Given the description of an element on the screen output the (x, y) to click on. 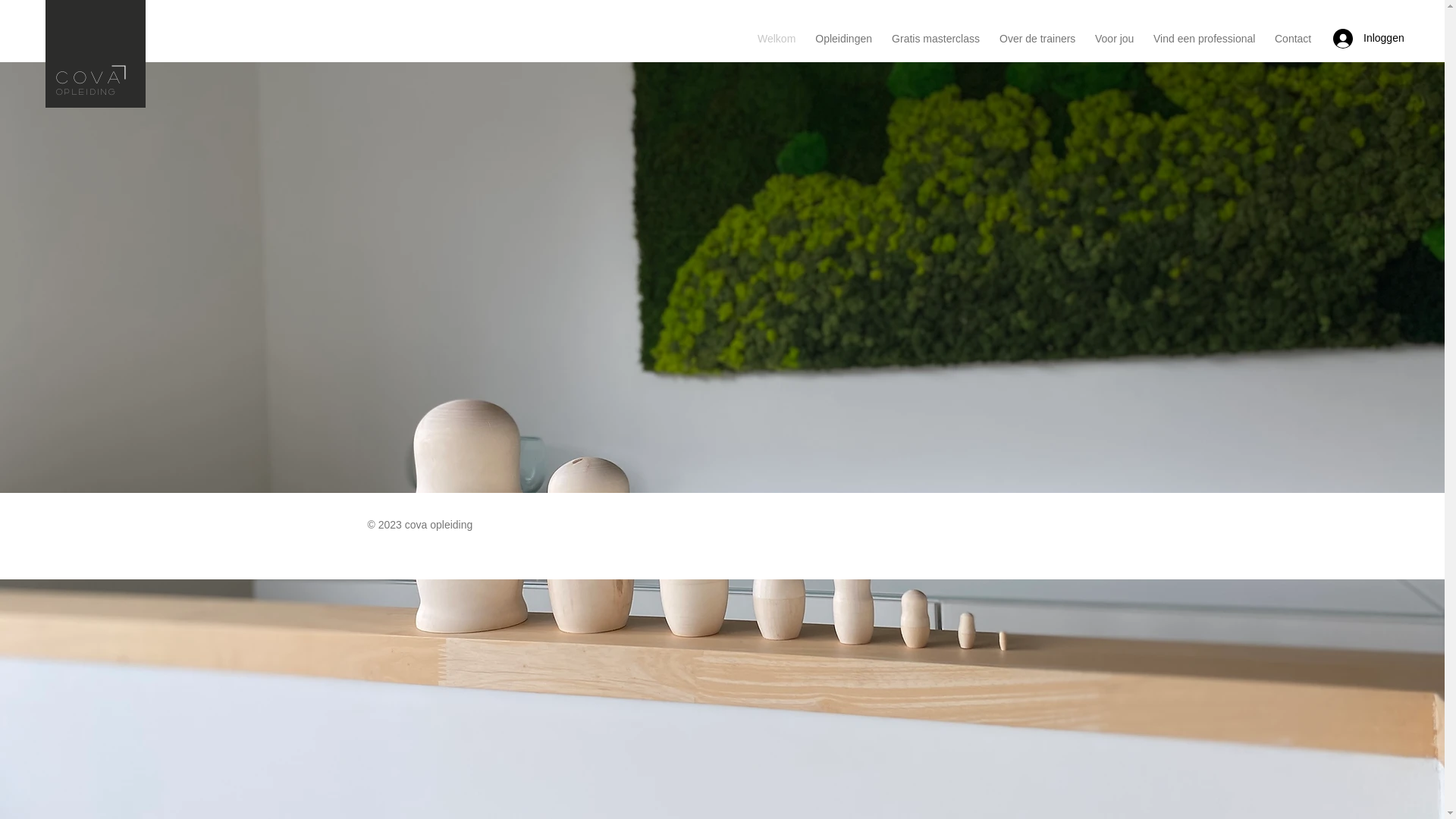
Contact Element type: text (1292, 38)
Inloggen Element type: text (1360, 38)
COVA Element type: text (90, 76)
Gratis masterclass Element type: text (935, 38)
Welkom Element type: text (776, 38)
Voor jou Element type: text (1114, 38)
Over de trainers Element type: text (1037, 38)
Vind een professional Element type: text (1203, 38)
Opleidingen Element type: text (843, 38)
